Given the description of an element on the screen output the (x, y) to click on. 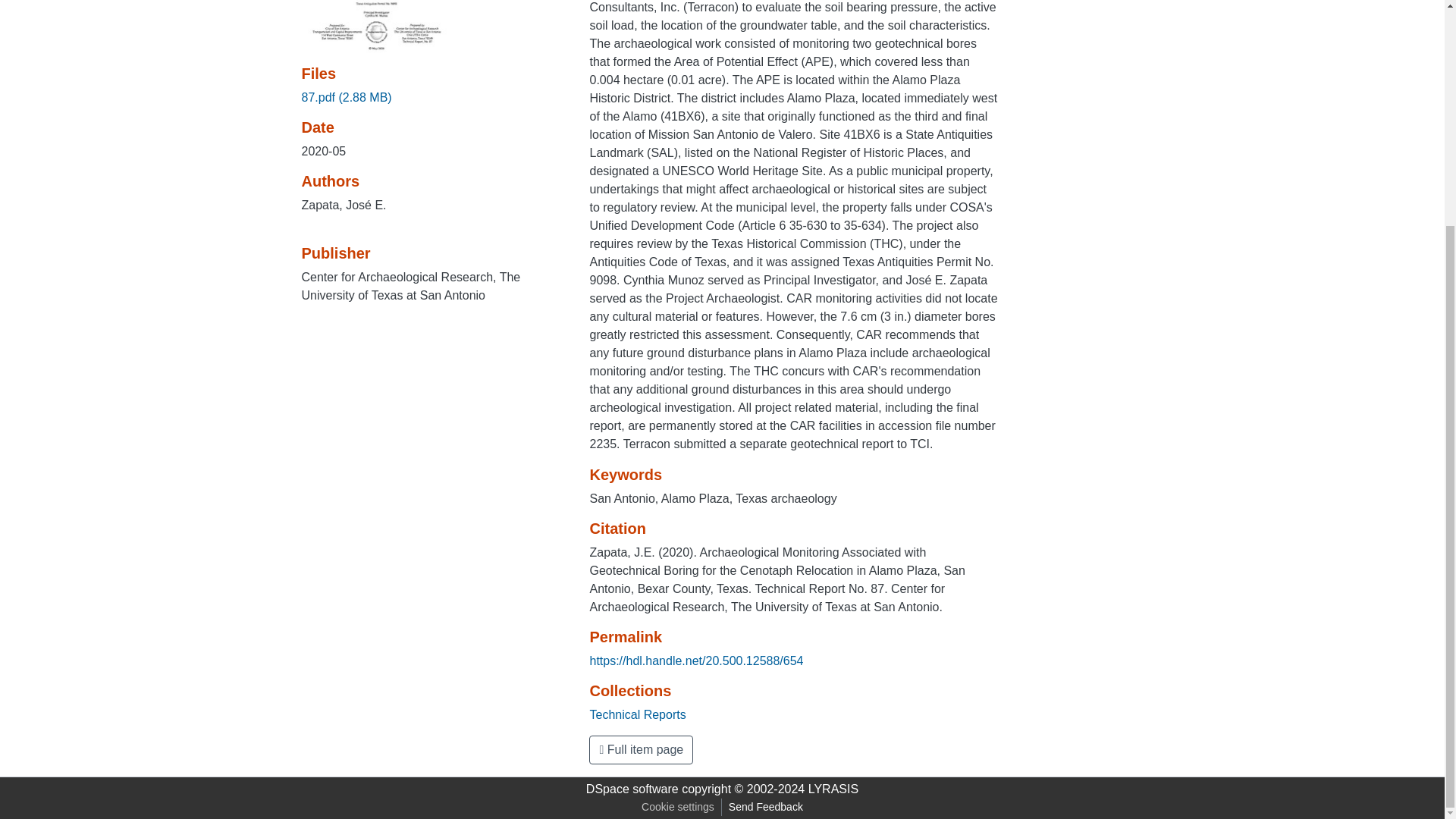
Technical Reports (637, 714)
Full item page (641, 749)
LYRASIS (833, 788)
Cookie settings (677, 806)
Send Feedback (765, 806)
DSpace software (632, 788)
